Given the description of an element on the screen output the (x, y) to click on. 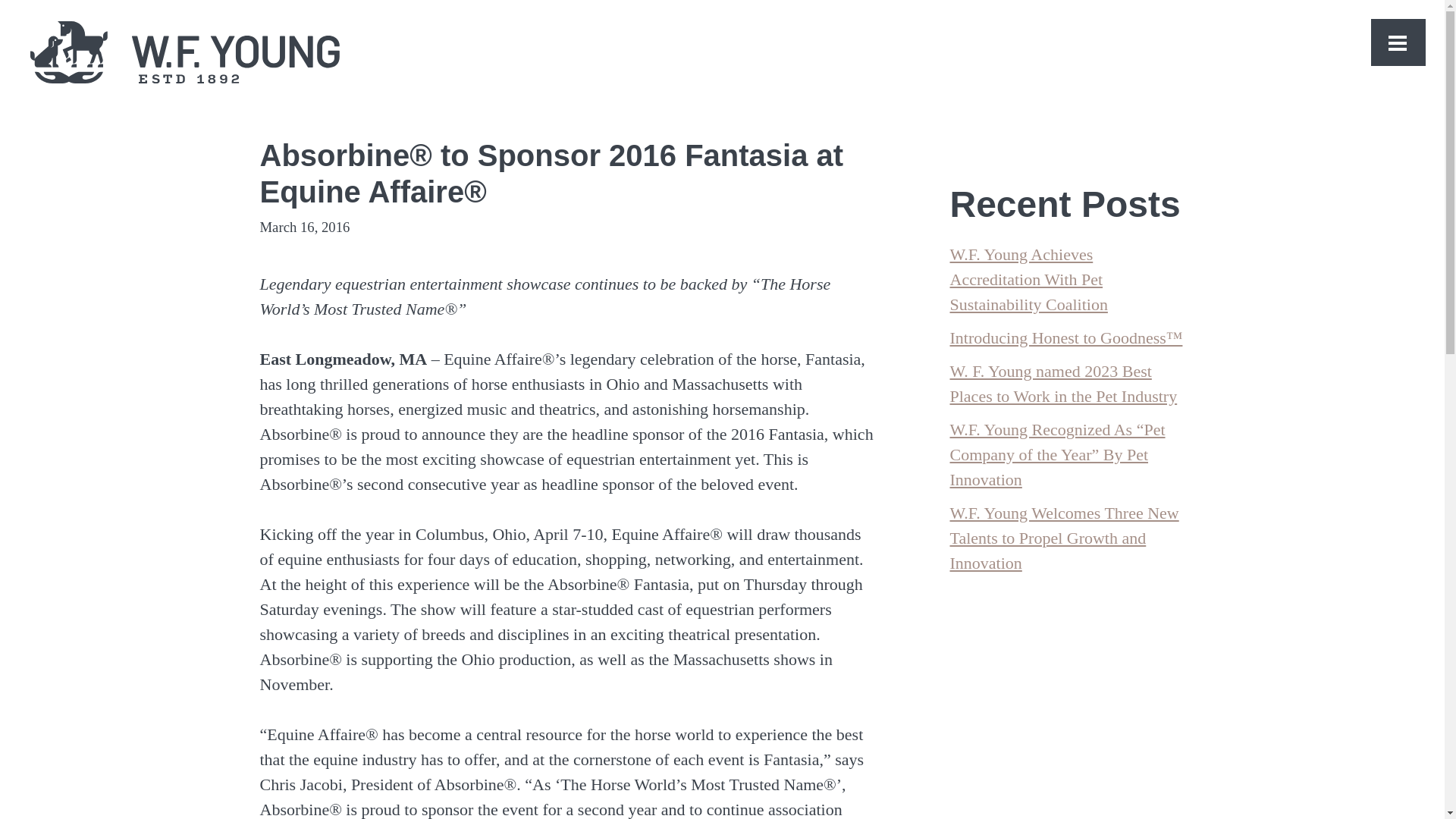
W.F. Young (184, 50)
W.F. Young (184, 52)
